Given the description of an element on the screen output the (x, y) to click on. 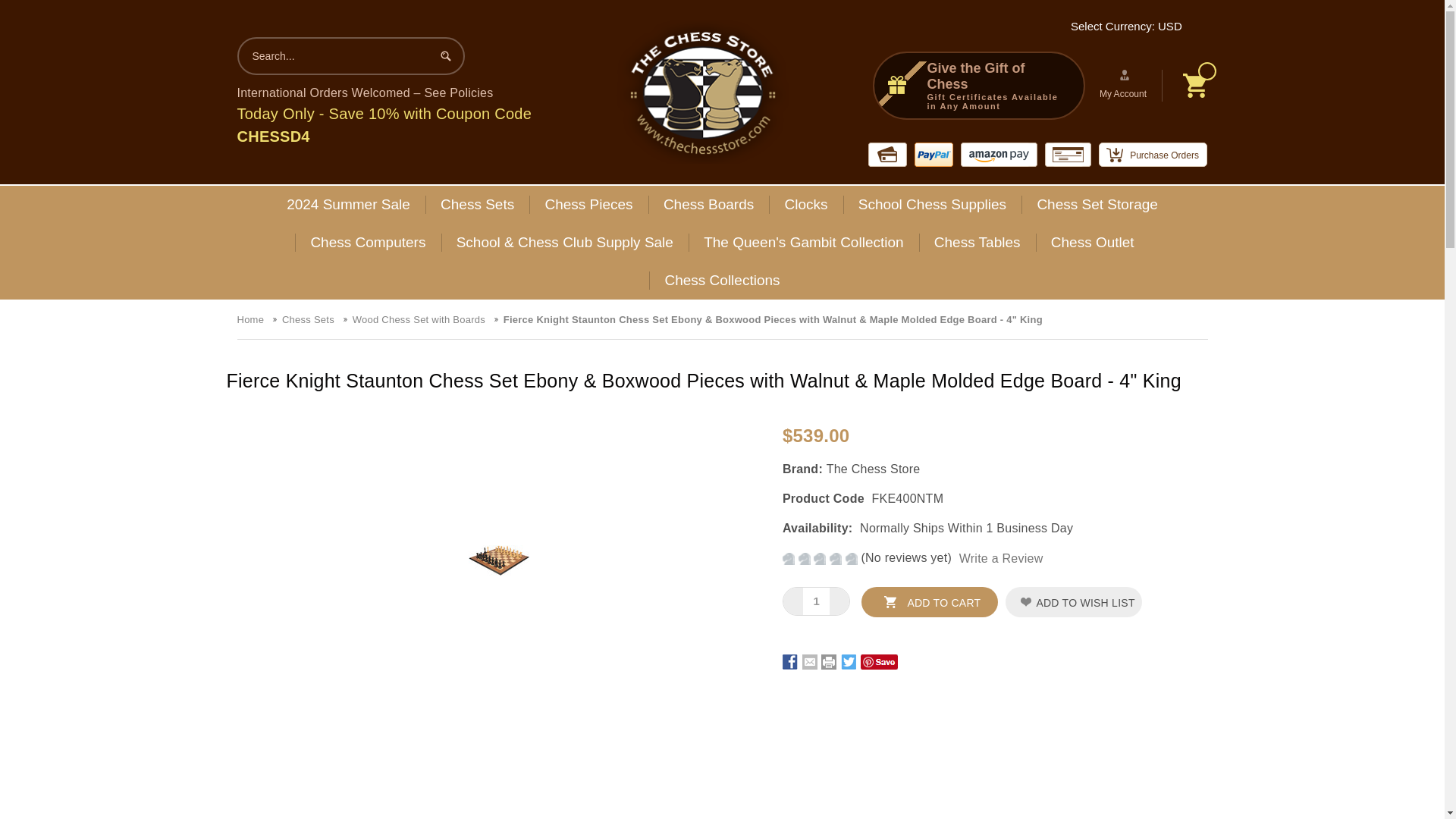
Search (445, 55)
1 (816, 600)
The Chess Store (702, 91)
Chess Pieces (588, 204)
Chess Sets (477, 204)
Add to Cart (929, 602)
Email (809, 661)
Facebook (790, 661)
My Account (1124, 85)
